Given the description of an element on the screen output the (x, y) to click on. 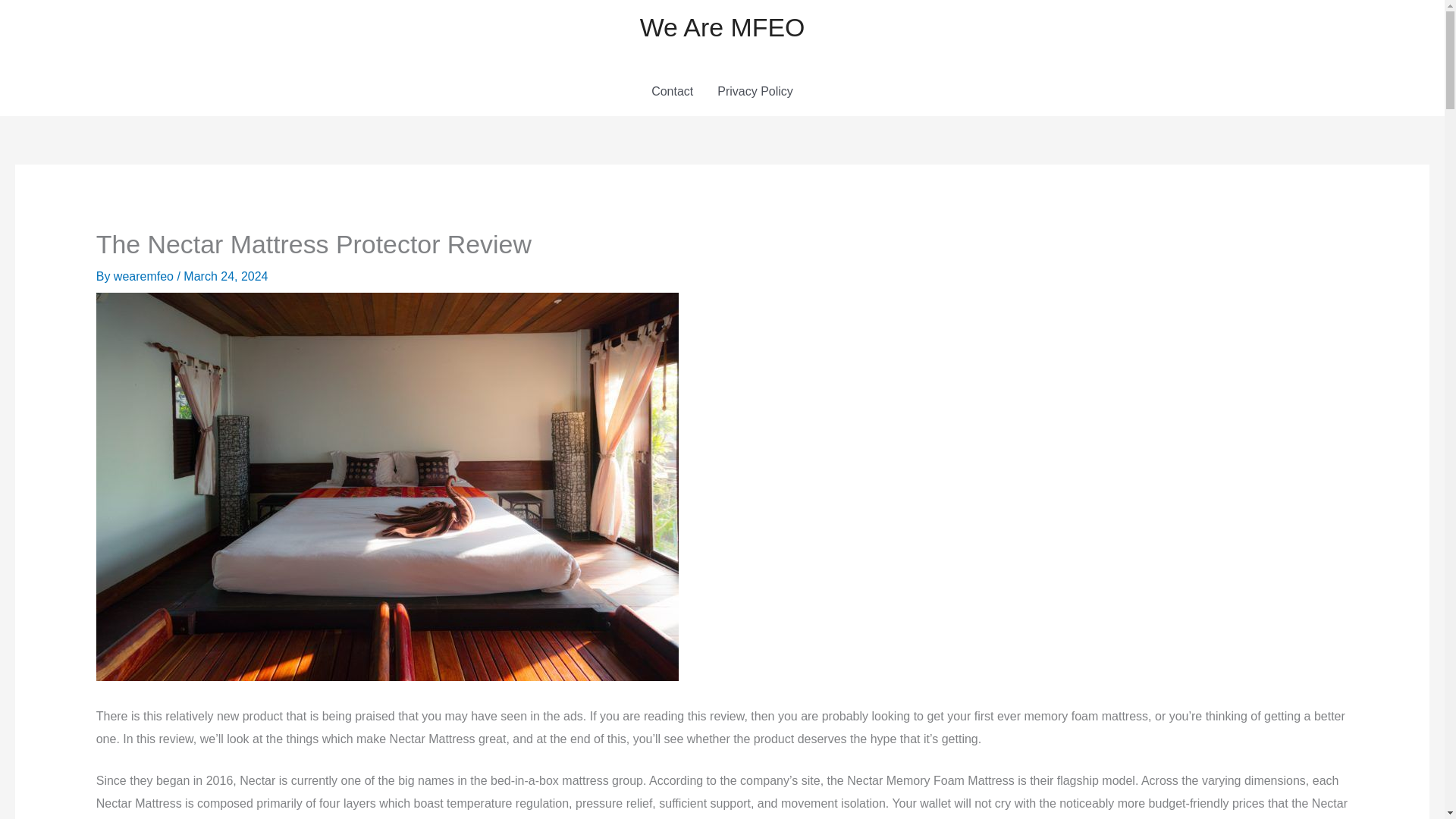
wearemfeo (145, 276)
We Are MFEO (722, 27)
View all posts by wearemfeo (145, 276)
Privacy Policy (754, 91)
Contact (671, 91)
